Given the description of an element on the screen output the (x, y) to click on. 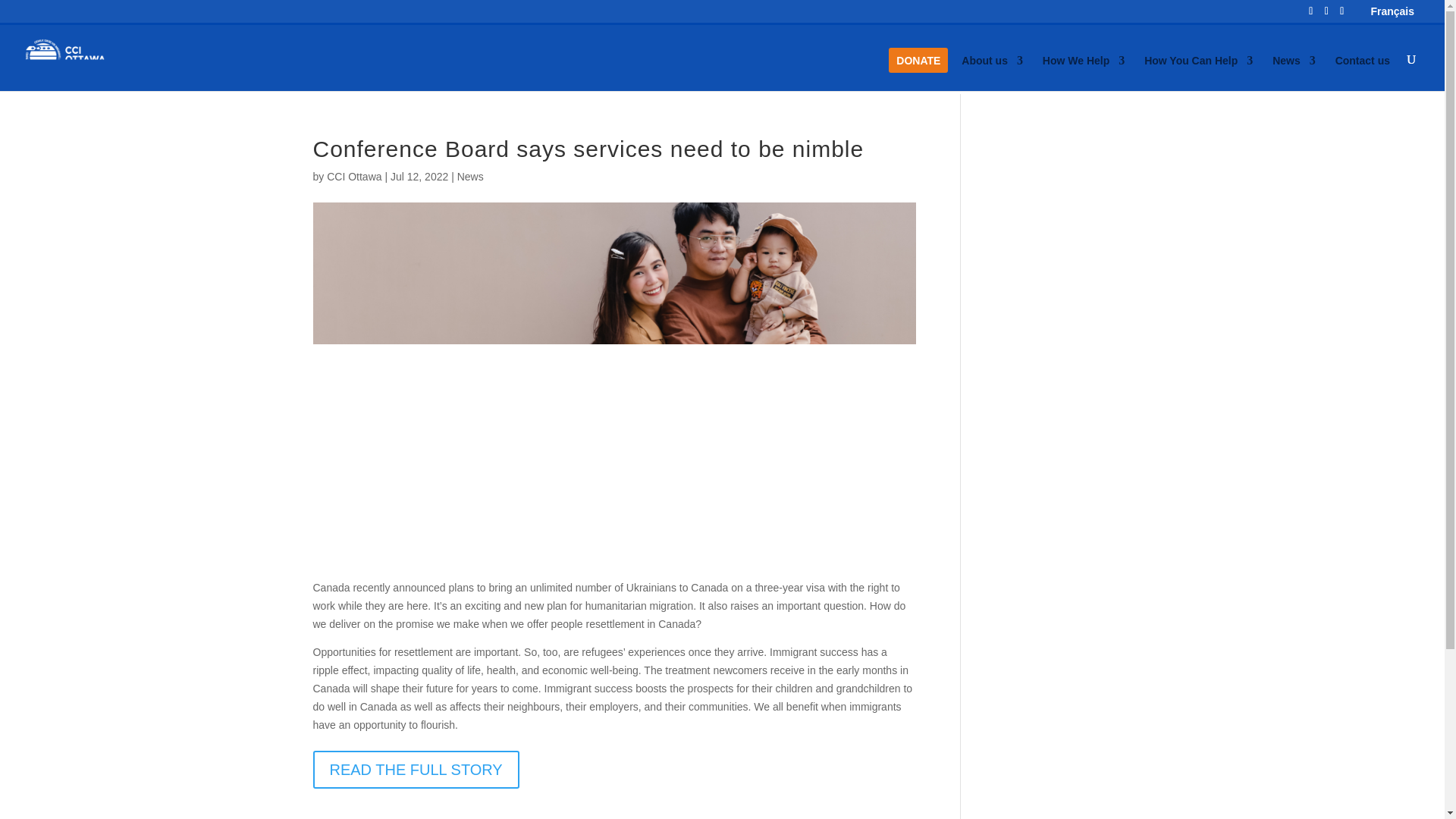
Posts by CCI Ottawa (353, 176)
CCI Ottawa (353, 176)
News (1294, 72)
How You Can Help (1198, 72)
DONATE (918, 72)
READ THE FULL STORY (415, 769)
How We Help (1083, 72)
News (470, 176)
About us (991, 72)
Contact us (1362, 72)
